Given the description of an element on the screen output the (x, y) to click on. 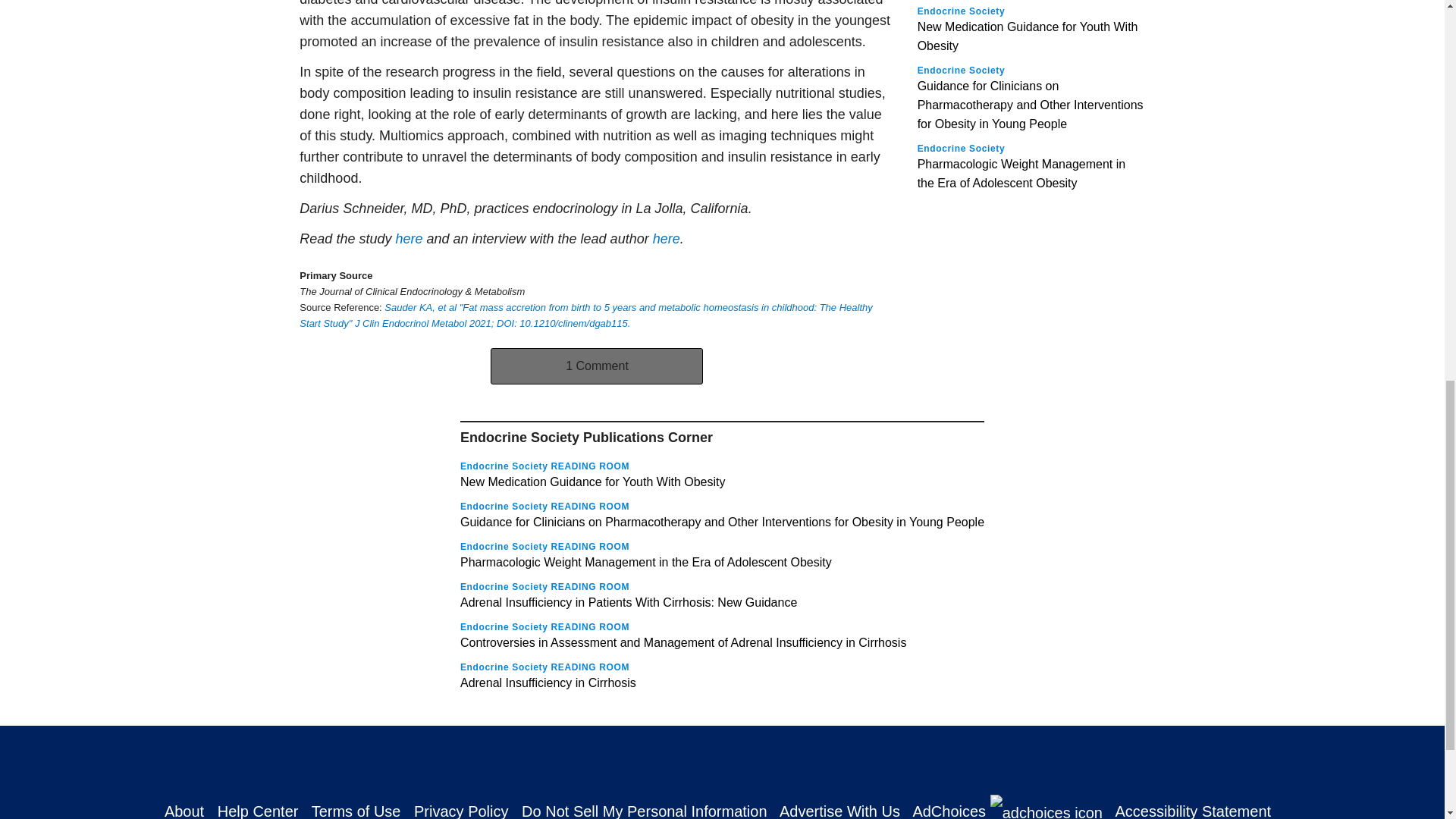
Visit us on Facebook. Opens in a new tab or window (590, 761)
Opens in a new tab or window (665, 238)
Opens in a new tab or window (408, 238)
Visit us on LinkedIn. Opens in a new tab or window (748, 761)
Visit us on Instagram. Opens in a new tab or window (696, 761)
Visit us on X. Opens in a new tab or window (642, 761)
Opens in a new tab or window (585, 315)
